Given the description of an element on the screen output the (x, y) to click on. 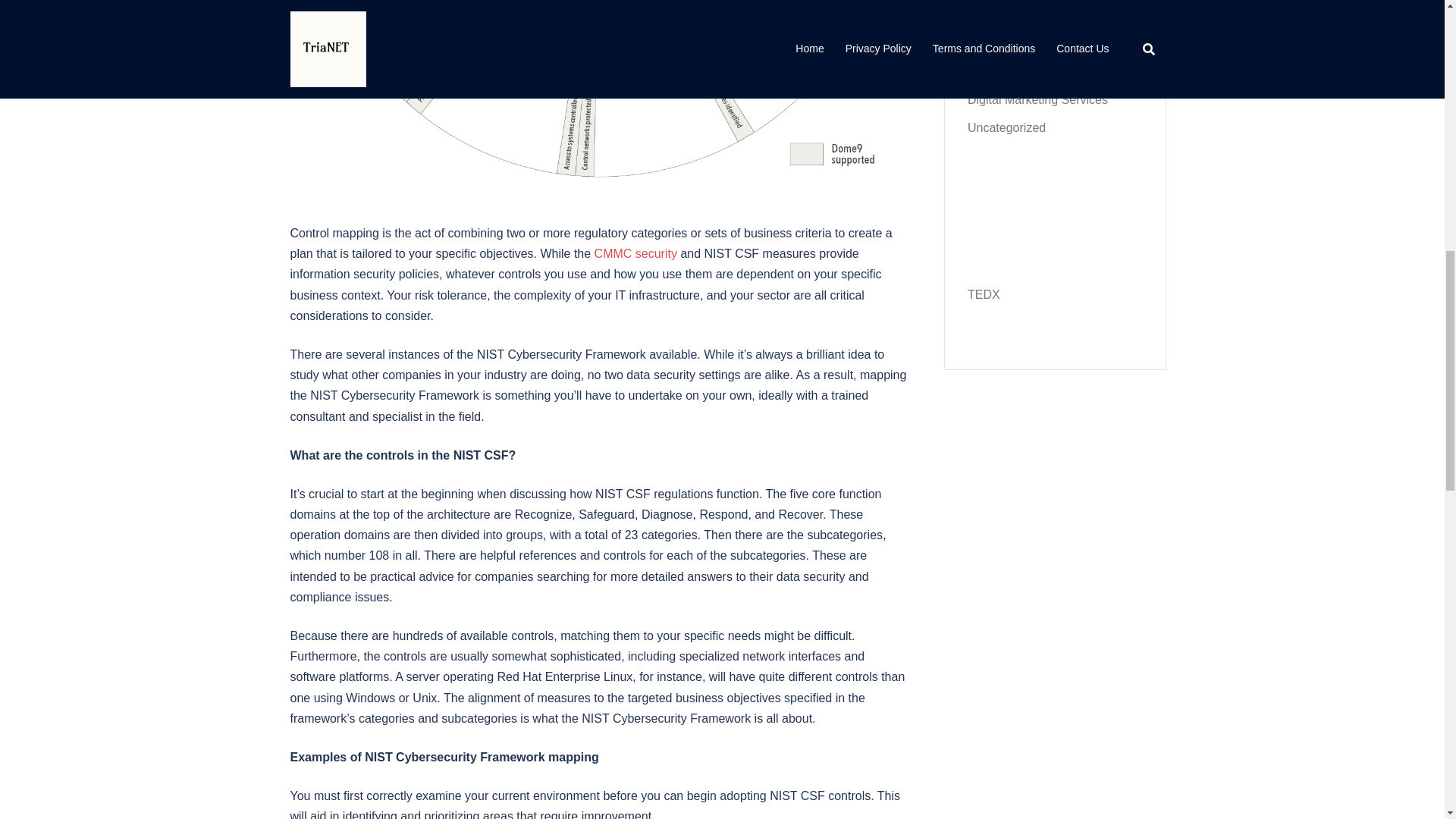
Uncategorized (1006, 127)
Digital Marketing Services (1038, 99)
CMMC security (635, 253)
